Given the description of an element on the screen output the (x, y) to click on. 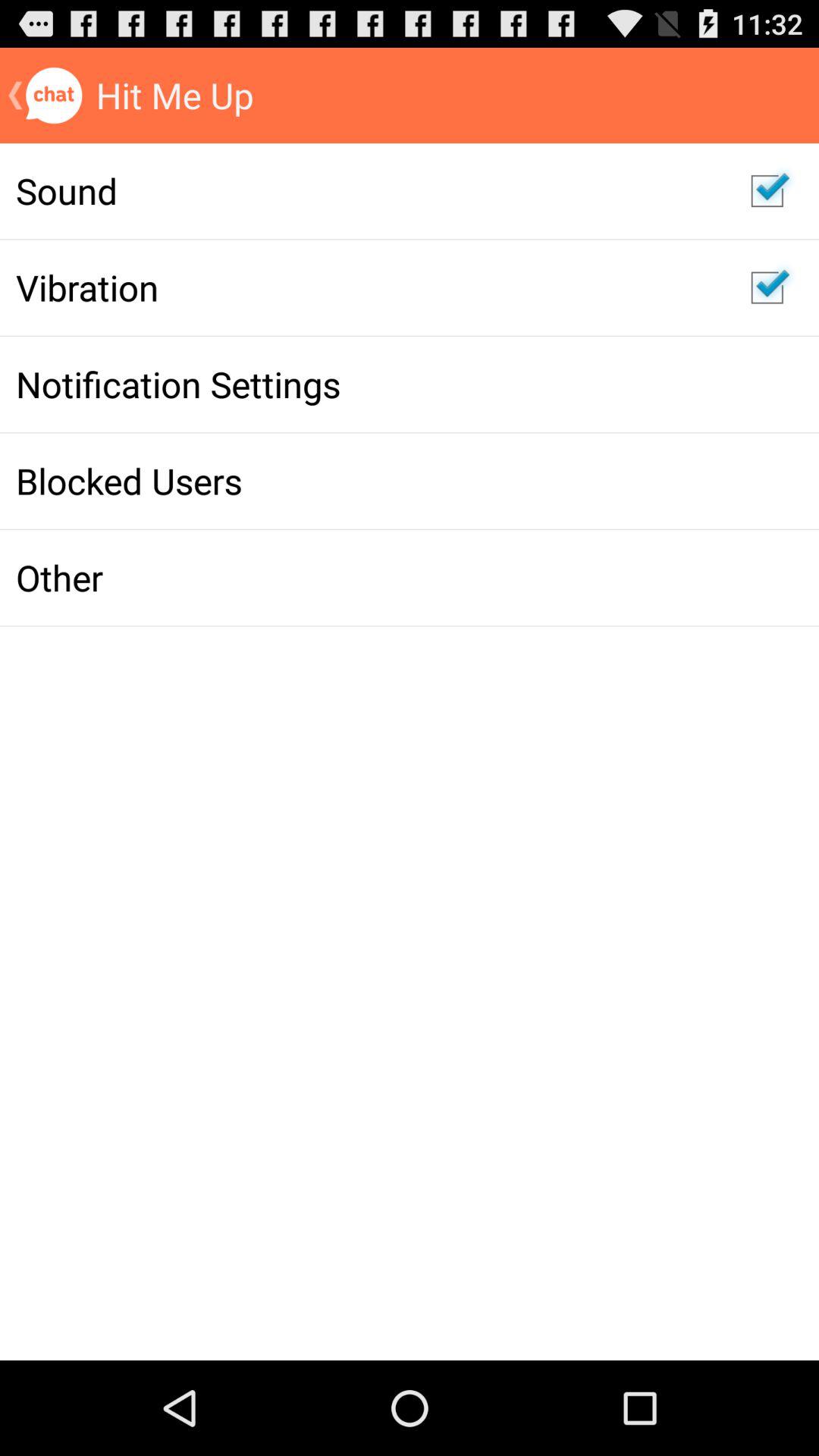
jump to the other app (367, 577)
